Given the description of an element on the screen output the (x, y) to click on. 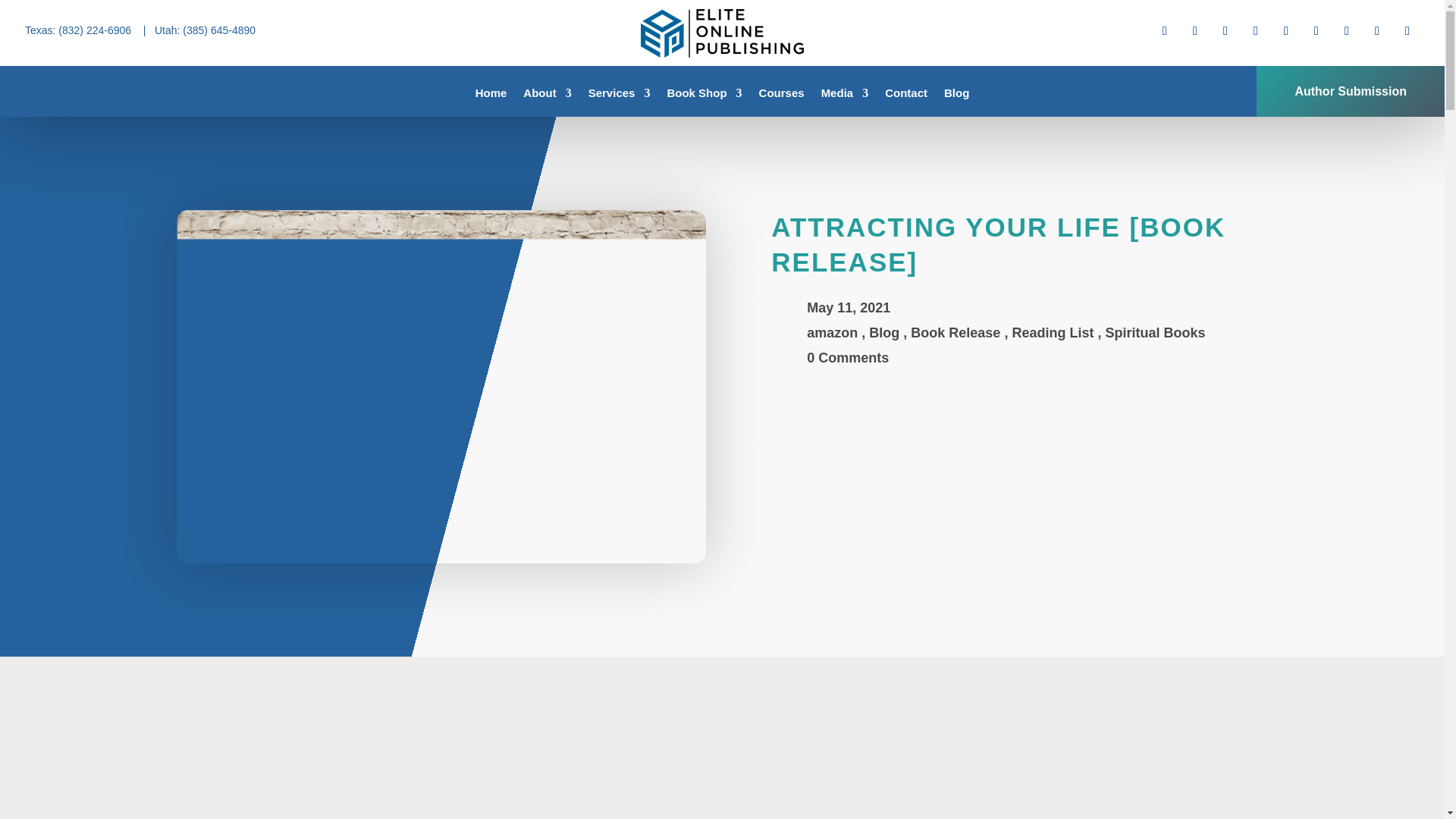
Media (845, 96)
Follow on iTunes (1377, 30)
Book Shop (703, 96)
Follow on TikTok (1346, 30)
Follow on Youtube (1315, 30)
Home (491, 96)
Follow on LinkedIn (1255, 30)
Follow on Instagram (1224, 30)
Courses (781, 96)
Follow on Spotify (1406, 30)
